Given the description of an element on the screen output the (x, y) to click on. 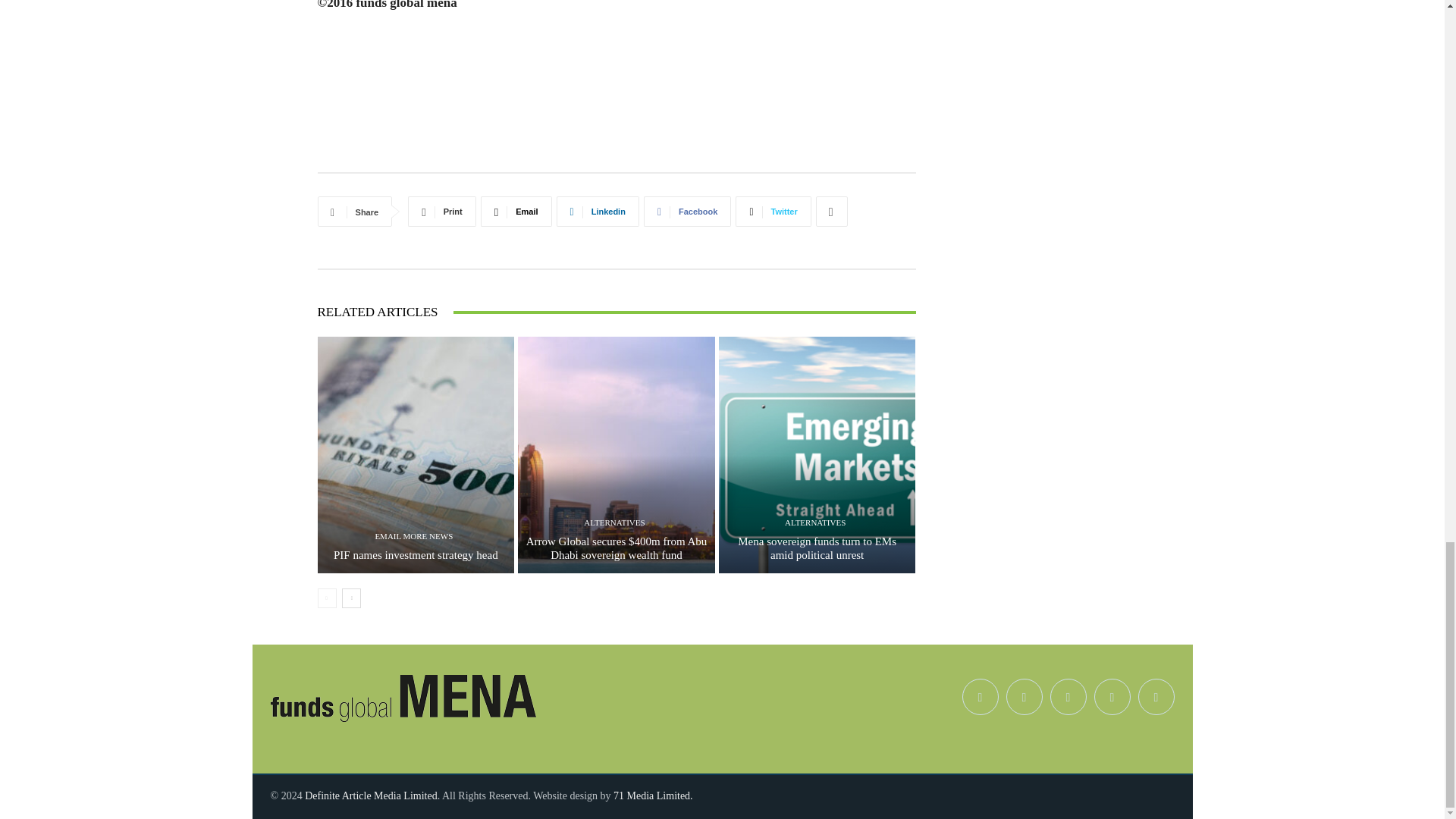
3rd party ad content (616, 116)
Linkedin (597, 211)
Email (515, 211)
Print (441, 211)
